Given the description of an element on the screen output the (x, y) to click on. 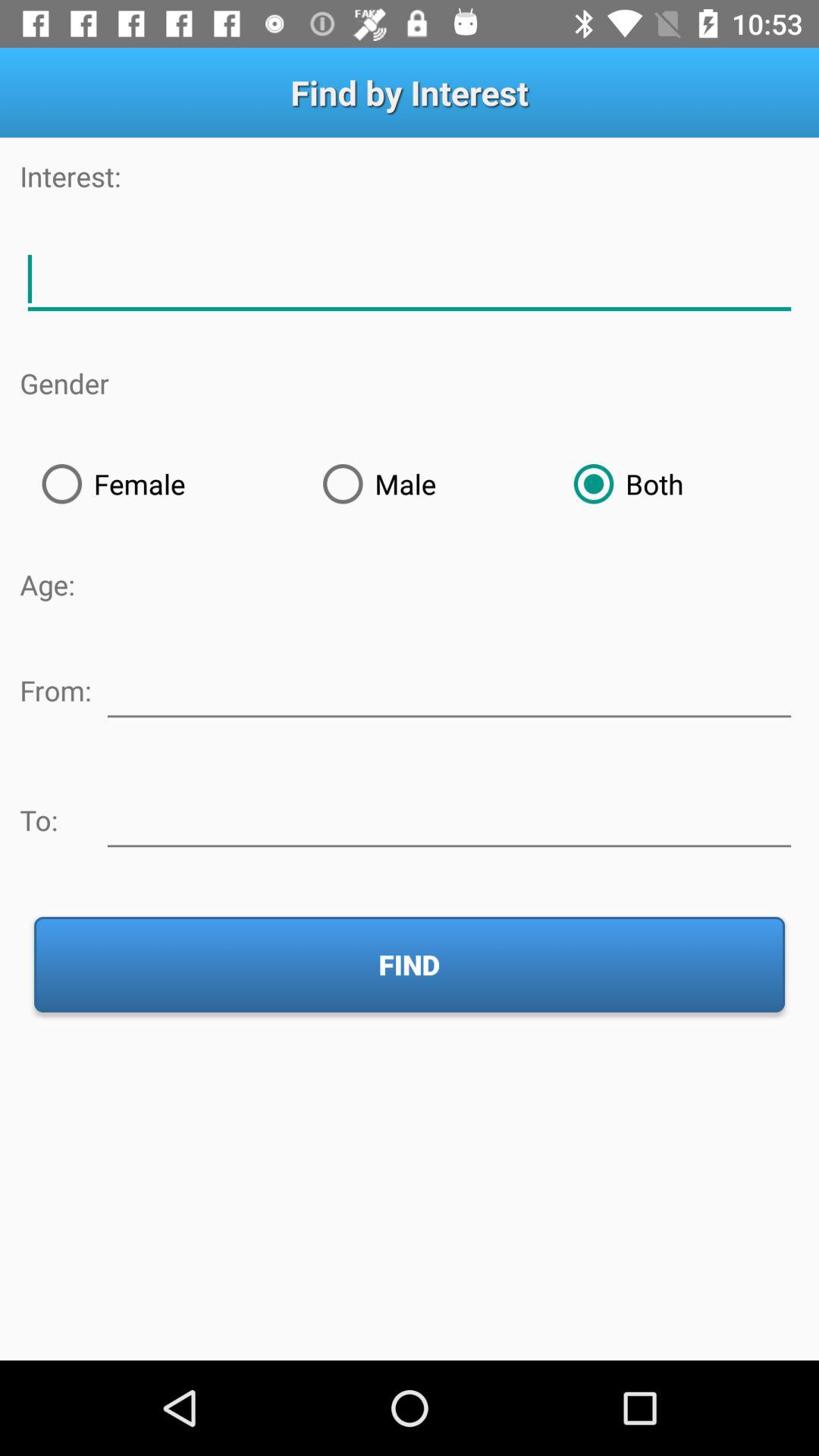
fill out the from field (449, 688)
